Given the description of an element on the screen output the (x, y) to click on. 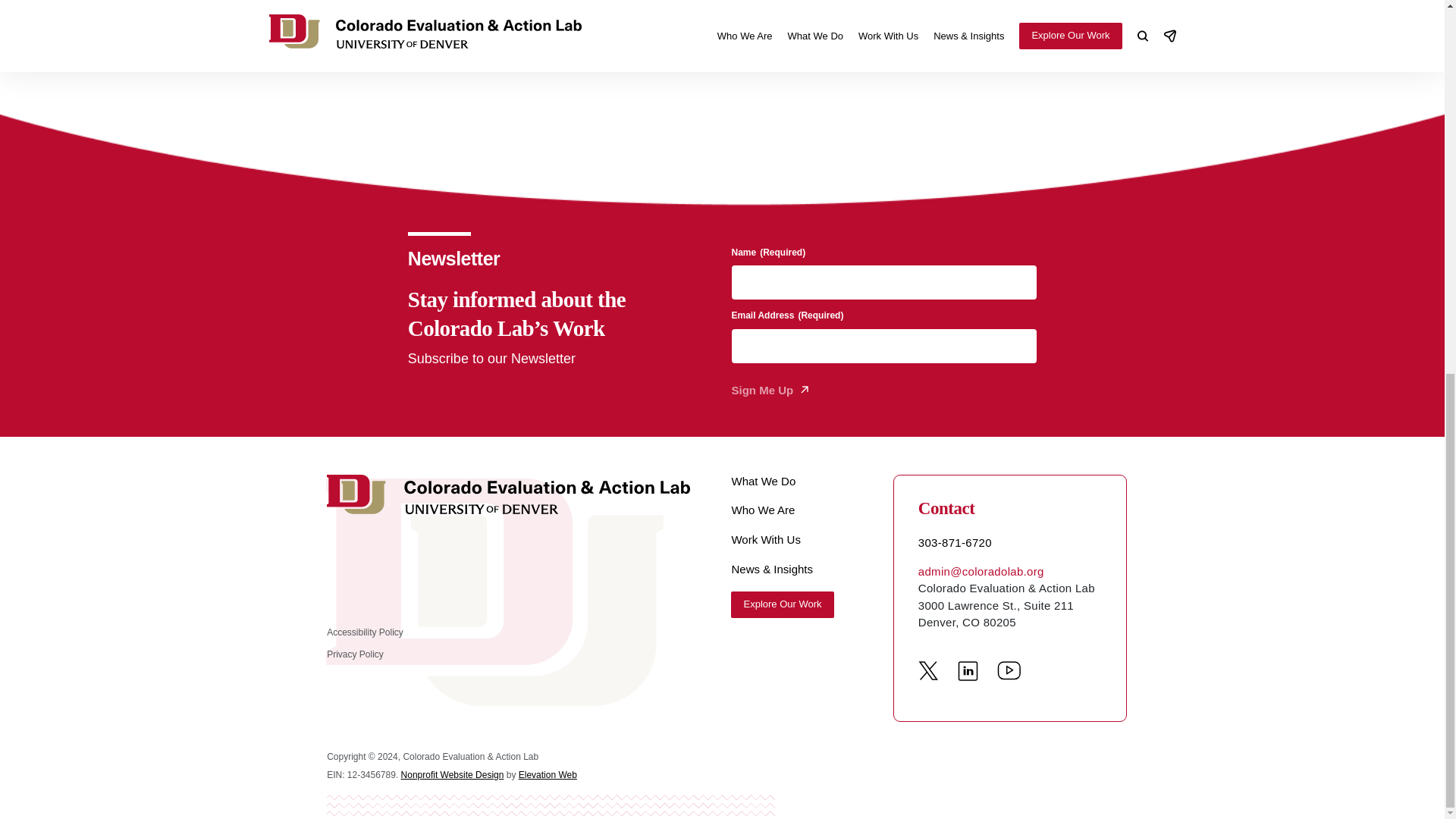
Sign Me Up (769, 391)
